Given the description of an element on the screen output the (x, y) to click on. 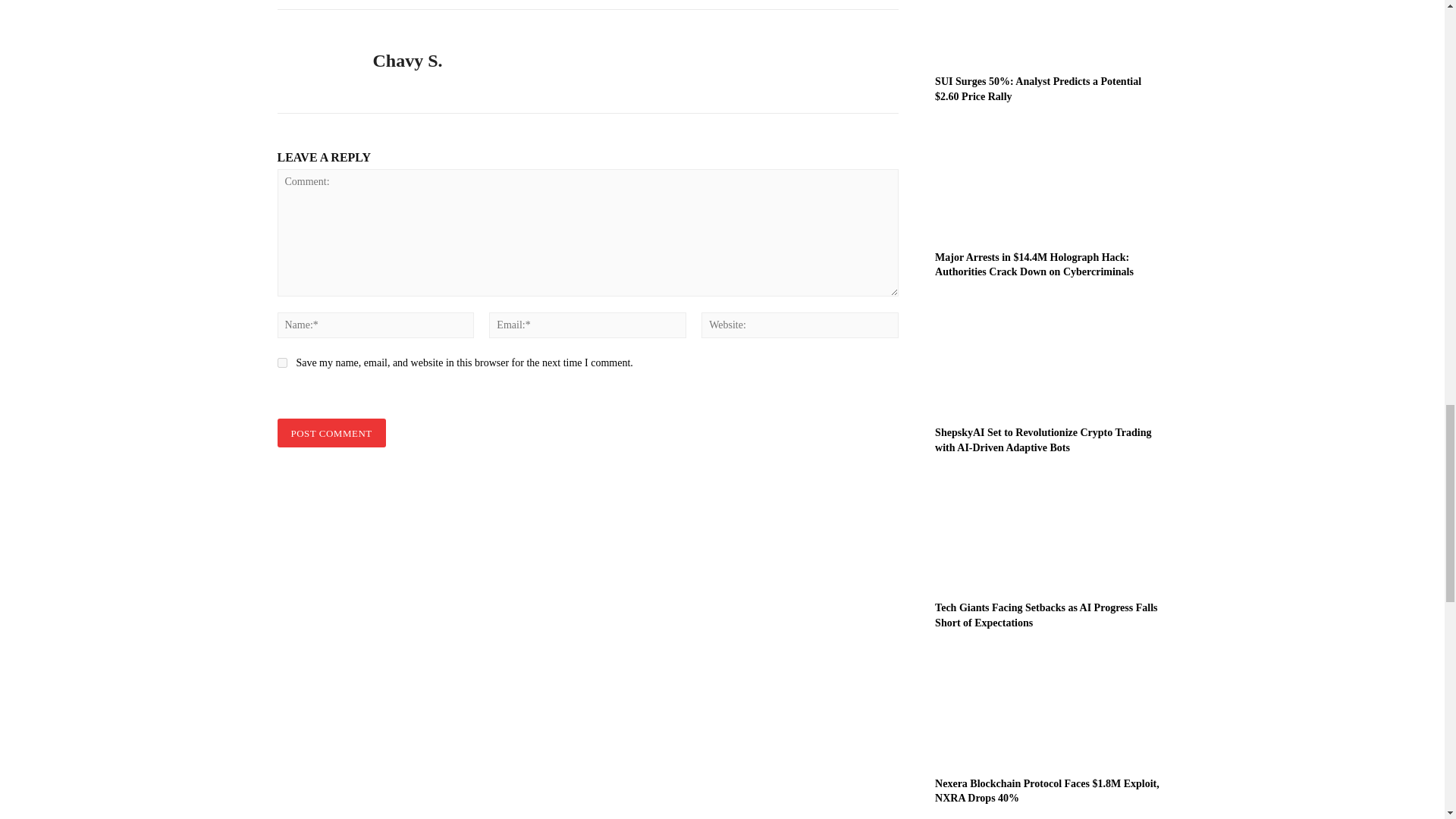
Post Comment (331, 432)
Chavy S. (314, 61)
Chavy S. (407, 60)
yes (282, 362)
Post Comment (331, 432)
